Given the description of an element on the screen output the (x, y) to click on. 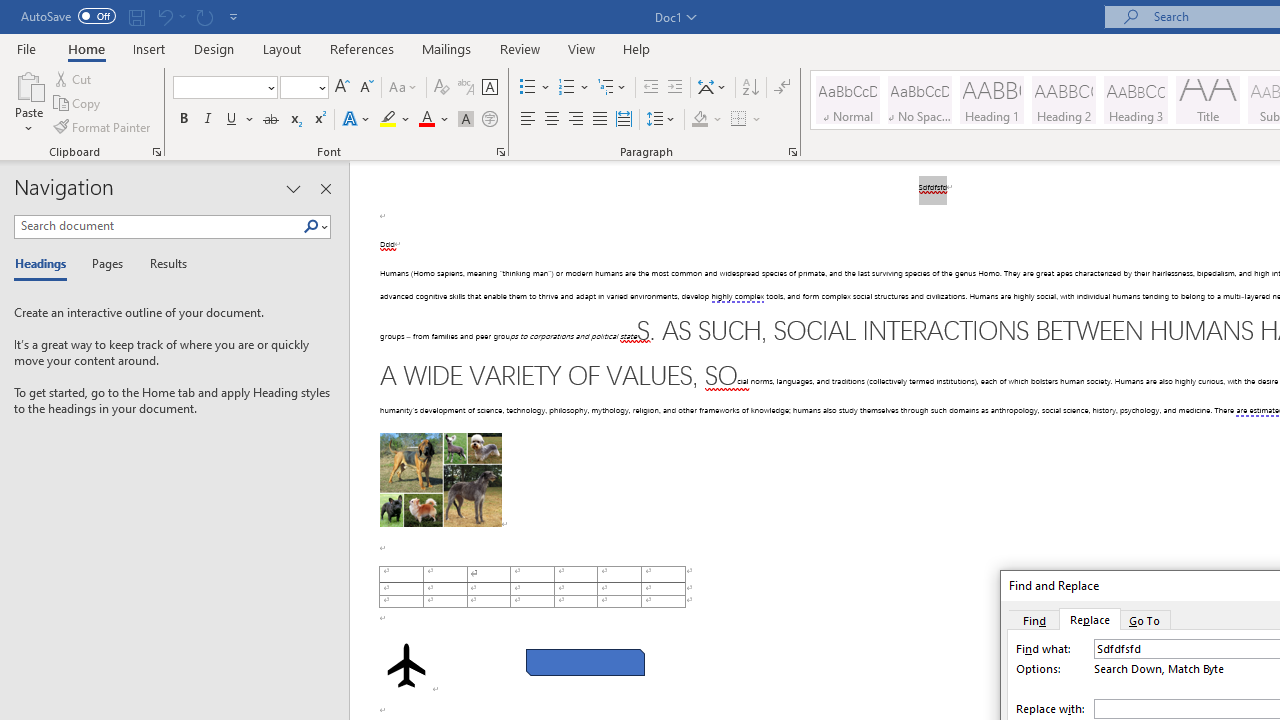
Show/Hide Editing Marks (781, 87)
Pages (105, 264)
Character Shading (465, 119)
Rectangle: Diagonal Corners Snipped 2 (585, 662)
Replace (1089, 619)
Headings (45, 264)
Font Color (434, 119)
Font Size (297, 87)
Design (214, 48)
Open (320, 87)
Undo Paragraph Alignment (164, 15)
Strikethrough (270, 119)
Review (520, 48)
Format Painter (103, 126)
